Given the description of an element on the screen output the (x, y) to click on. 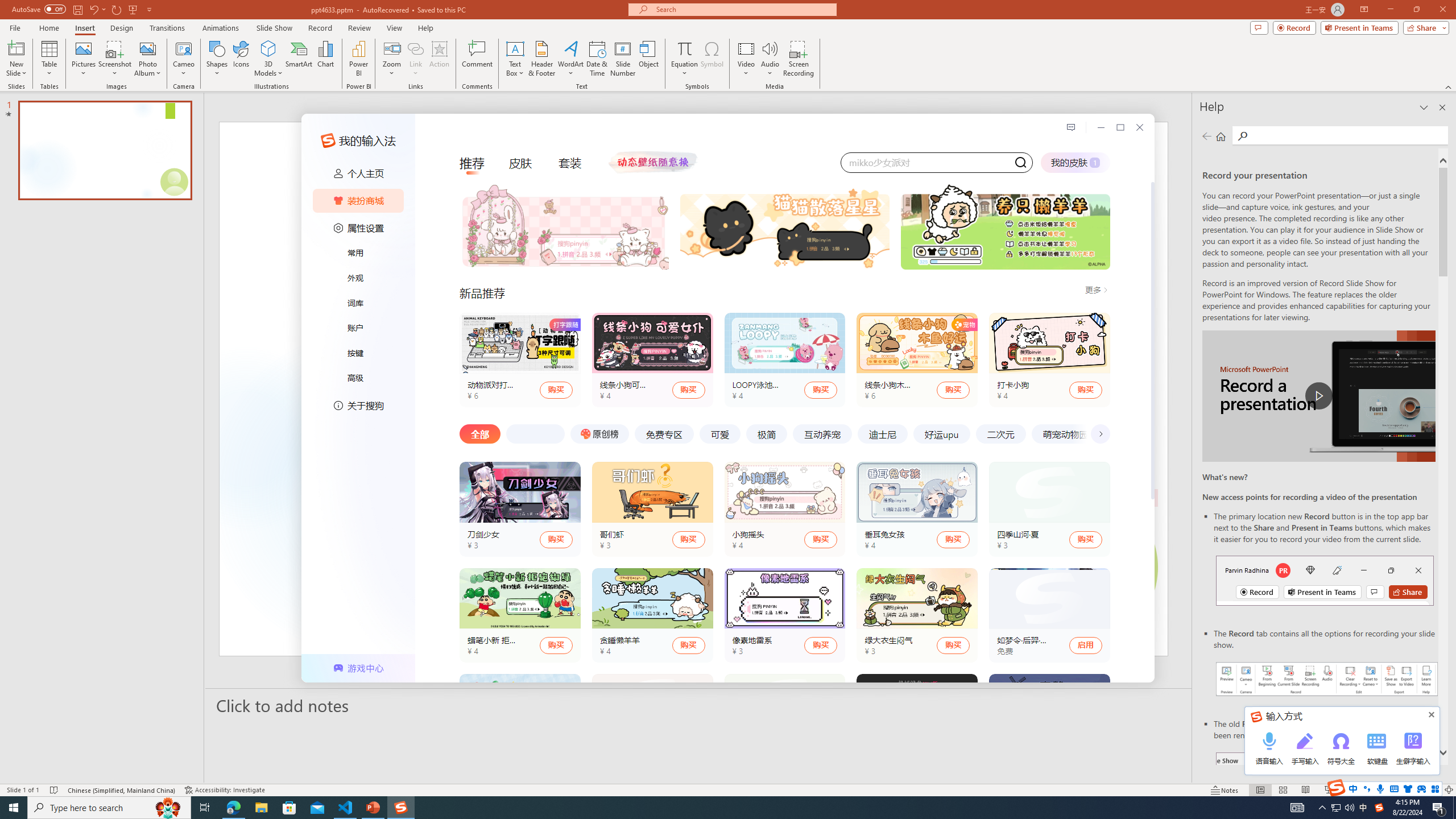
Action (439, 58)
Power BI (358, 58)
Previous page (1206, 136)
Draw Horizontal Text Box (515, 48)
Equation (683, 48)
Header & Footer... (541, 58)
Date & Time... (596, 58)
